Given the description of an element on the screen output the (x, y) to click on. 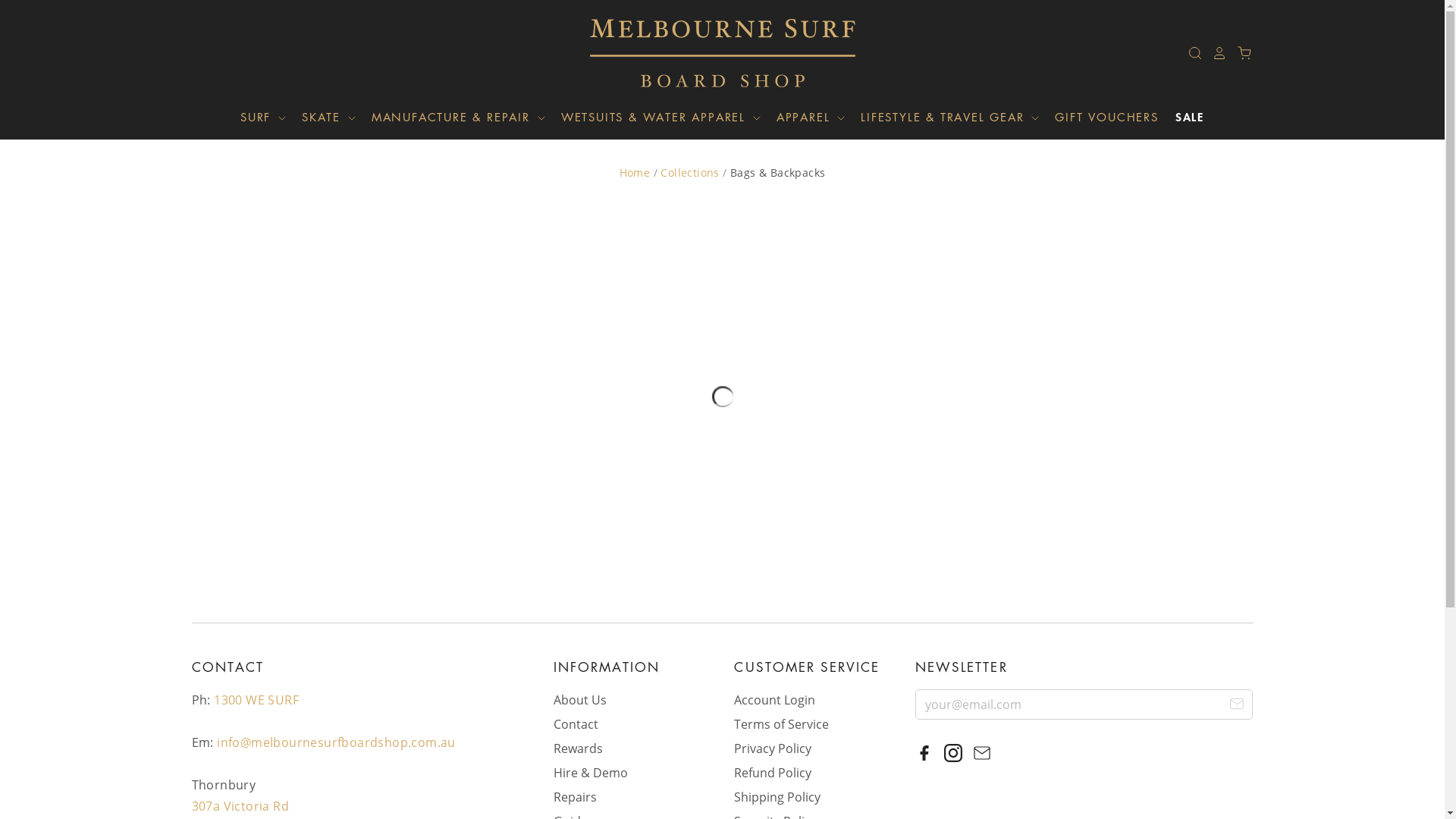
Shipping Policy Element type: text (777, 796)
SKATE Element type: text (321, 116)
Privacy Policy Element type: text (772, 748)
1300 WE SURF Element type: text (255, 699)
MANUFACTURE & REPAIR Element type: text (451, 116)
Repairs Element type: text (574, 796)
Hire & Demo Element type: text (590, 772)
Contact Element type: text (575, 723)
WETSUITS & WATER APPAREL Element type: text (654, 116)
SURF Element type: text (263, 116)
Collections Element type: text (689, 172)
SALE Element type: text (1181, 116)
Refund Policy Element type: text (772, 772)
Home Element type: text (634, 172)
Terms of Service Element type: text (781, 723)
Rewards Element type: text (577, 748)
LIFESTYLE & TRAVEL GEAR Element type: text (942, 116)
Account Login Element type: text (774, 699)
info@melbournesurfboardshop.com.au Element type: text (335, 742)
About Us Element type: text (579, 699)
APPAREL Element type: text (803, 116)
GIFT VOUCHERS Element type: text (1098, 116)
